Given the description of an element on the screen output the (x, y) to click on. 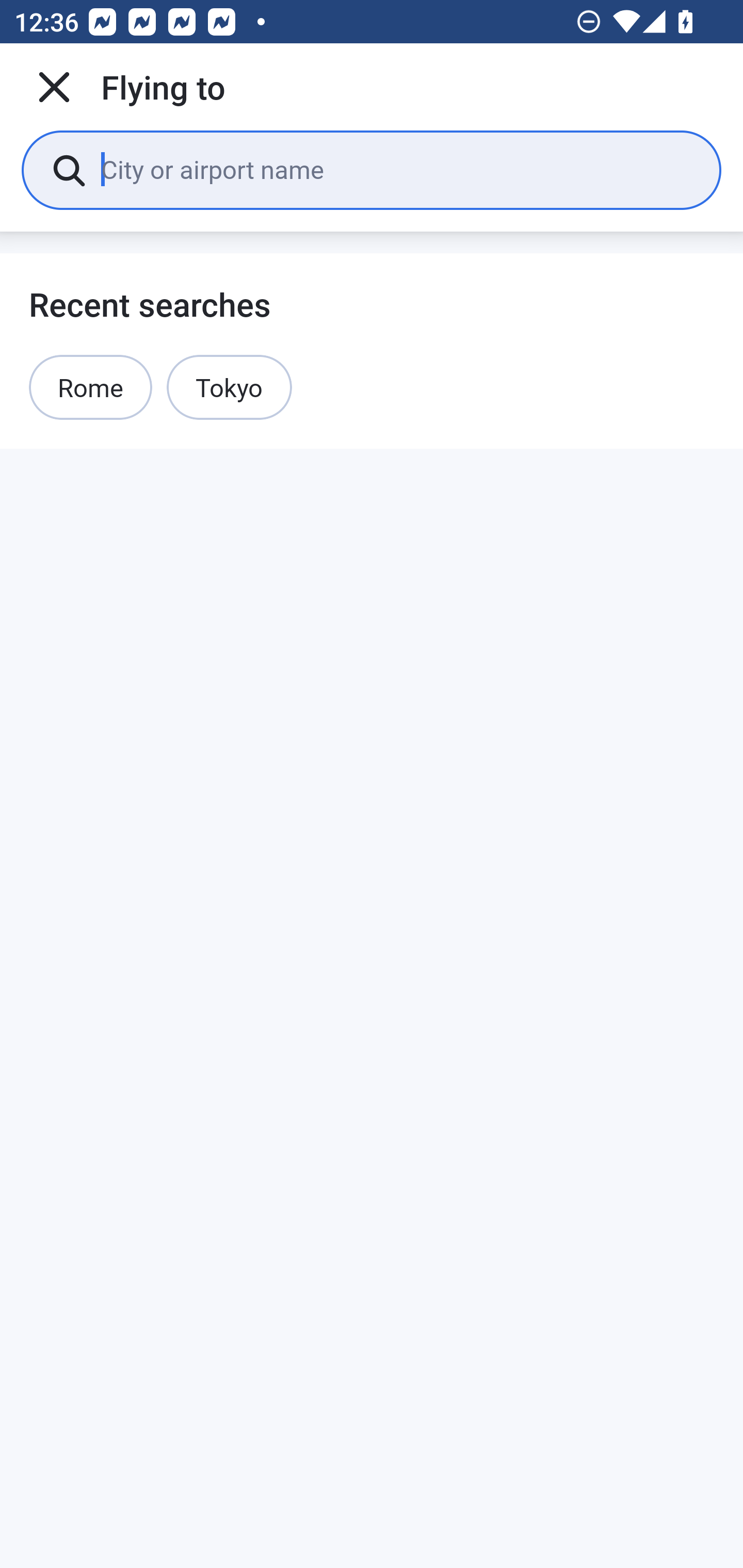
City or airport name (396, 169)
Rome (90, 387)
Tokyo (228, 387)
